Given the description of an element on the screen output the (x, y) to click on. 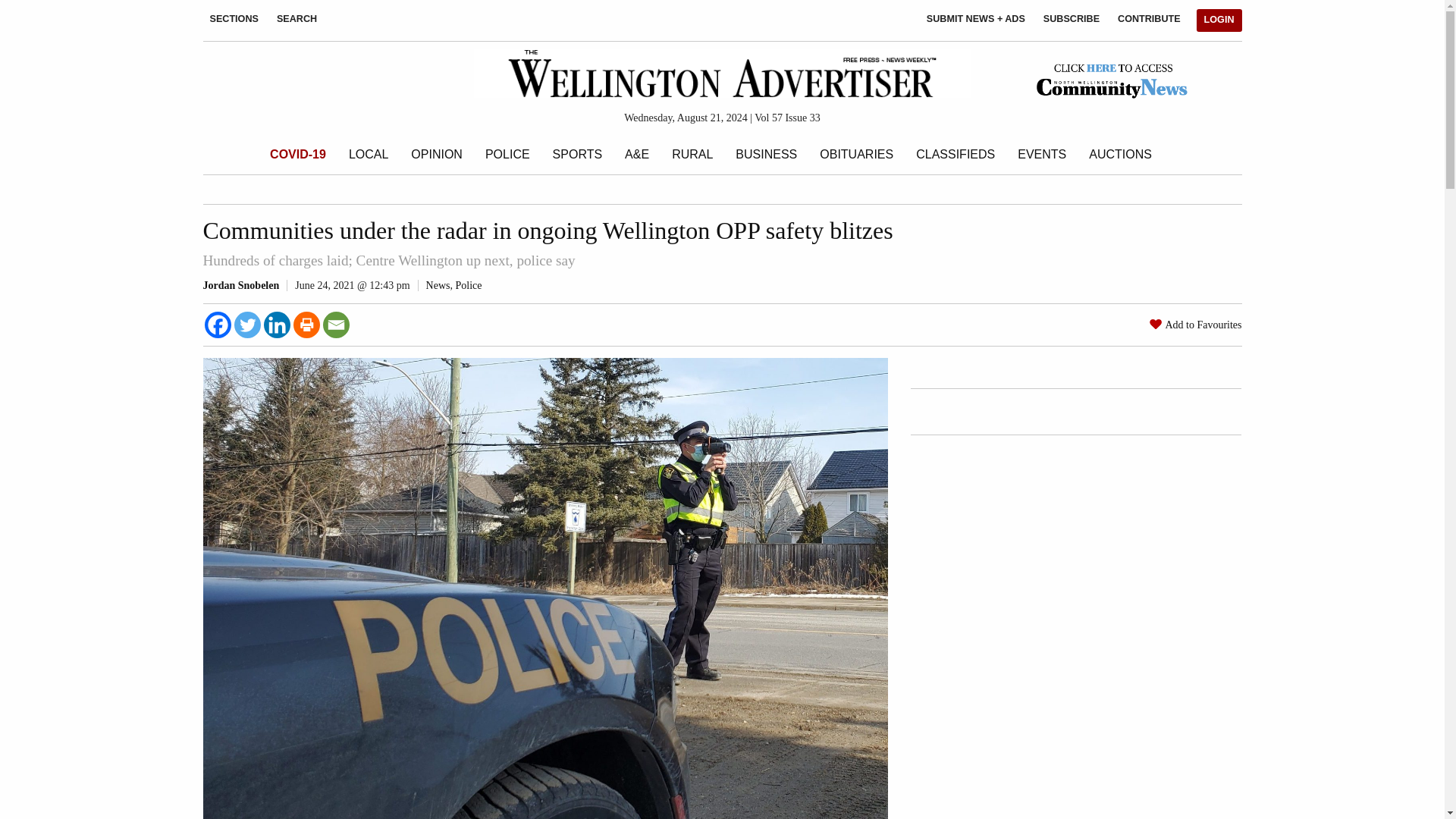
Linkedin (276, 325)
Search (51, 110)
Posts by Jordan Snobelen (241, 285)
Facebook (218, 325)
Print (305, 325)
 Add to Favourites (1202, 324)
Email (336, 325)
Favorite (1155, 323)
Twitter (246, 325)
